Given the description of an element on the screen output the (x, y) to click on. 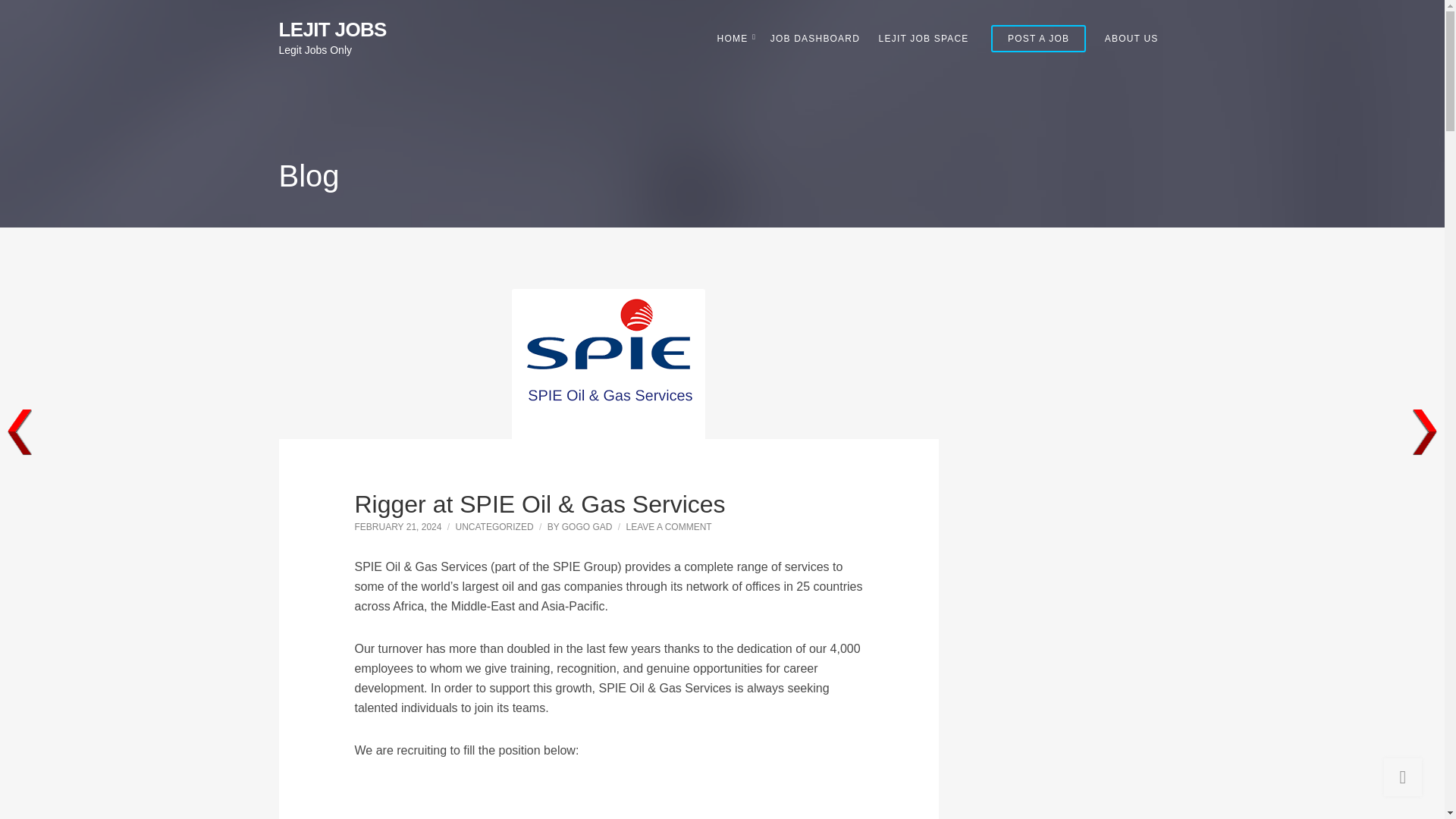
LEJIT JOBS (333, 29)
GOGO GAD (587, 526)
LEJIT JOB SPACE (924, 38)
POST A JOB (1038, 38)
HOME (734, 38)
JOB DASHBOARD (815, 38)
UNCATEGORIZED (493, 526)
ABOUT US (1131, 38)
